Given the description of an element on the screen output the (x, y) to click on. 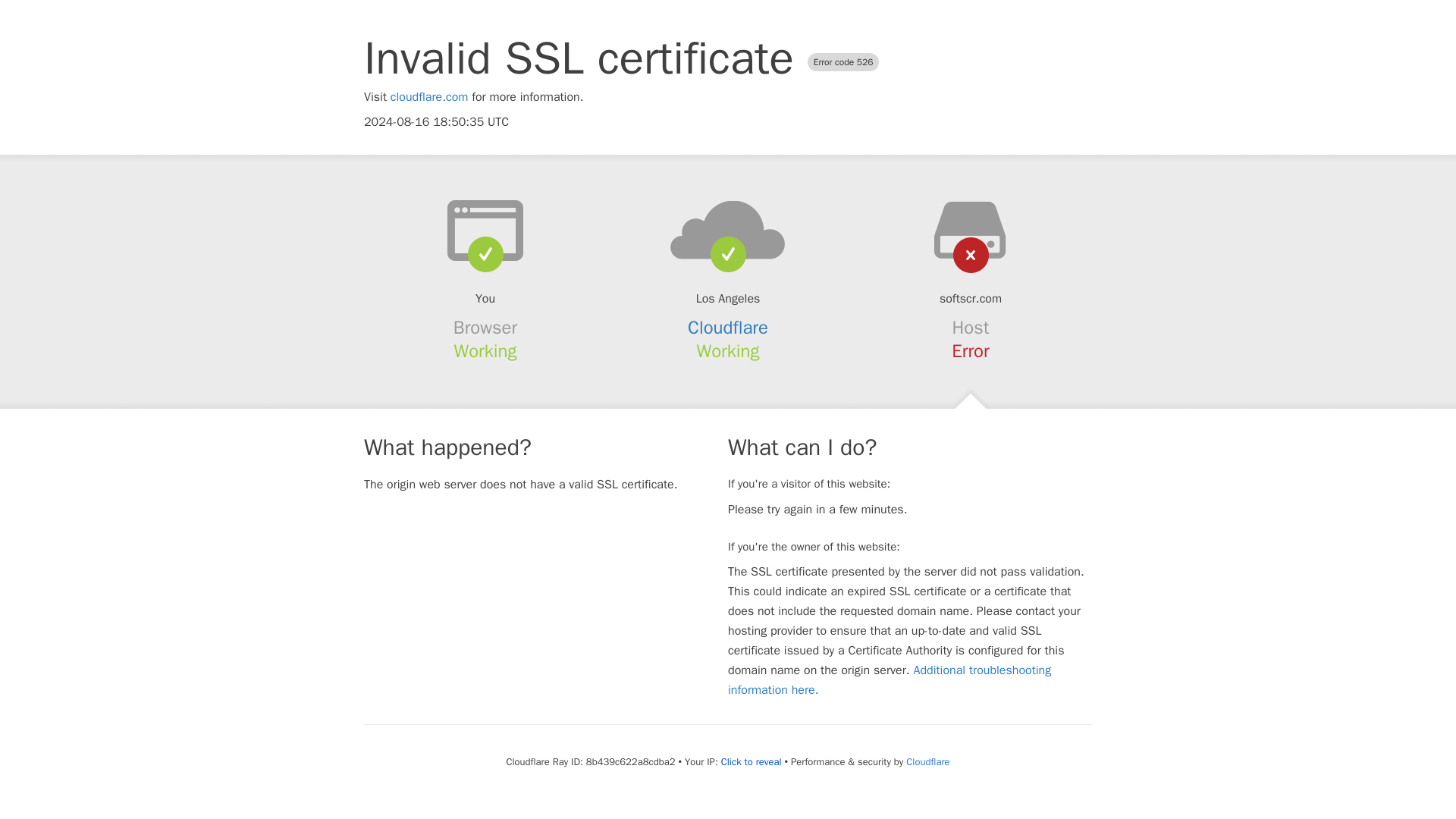
cloudflare.com (429, 96)
Additional troubleshooting information here. (889, 679)
Click to reveal (750, 762)
Cloudflare (927, 761)
Cloudflare (727, 327)
